Given the description of an element on the screen output the (x, y) to click on. 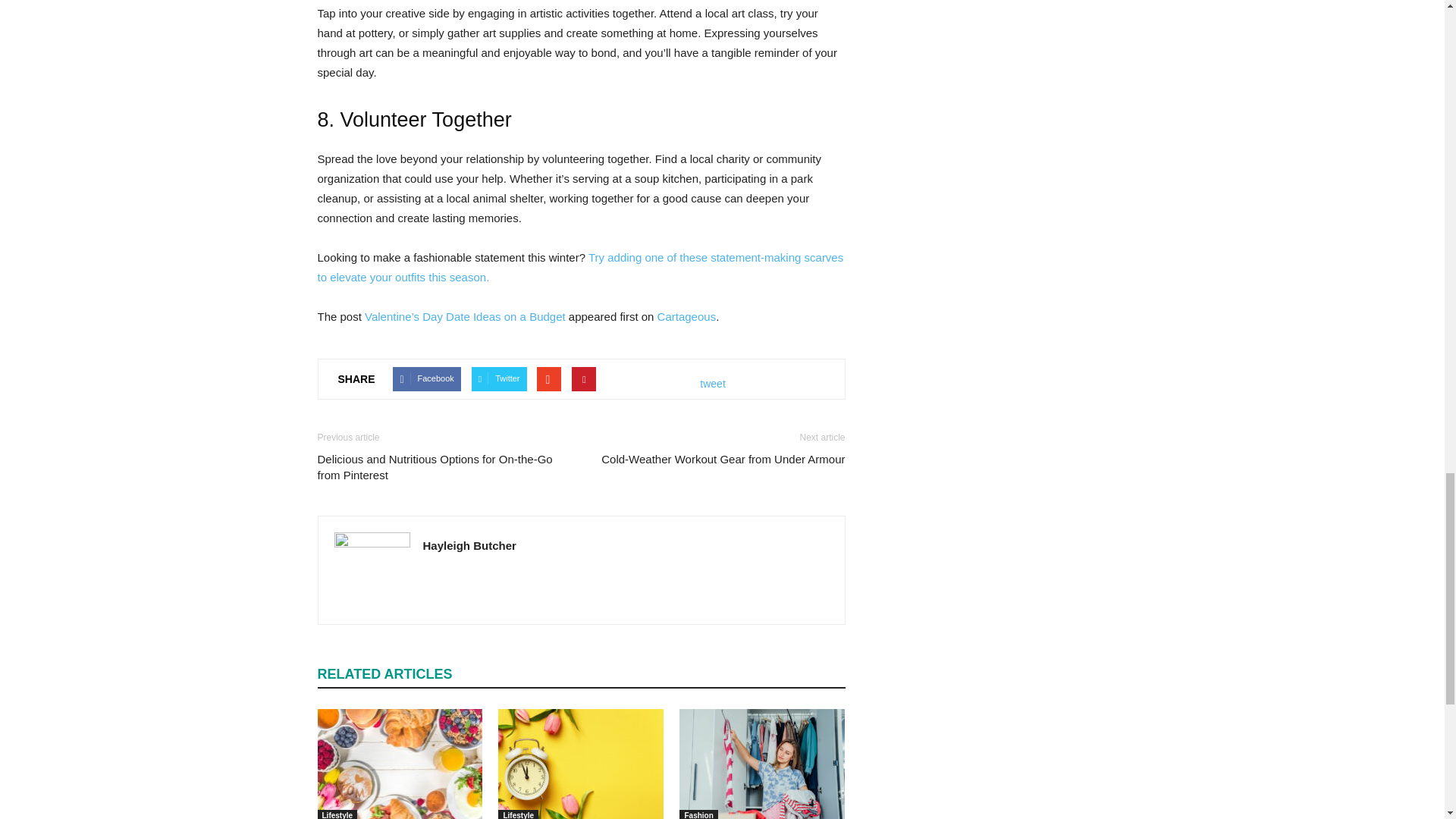
Daylight Saving Time: Adjusting Your Routine (580, 764)
10 Closet Decluttering Tips for Fashionistas (761, 764)
